Given the description of an element on the screen output the (x, y) to click on. 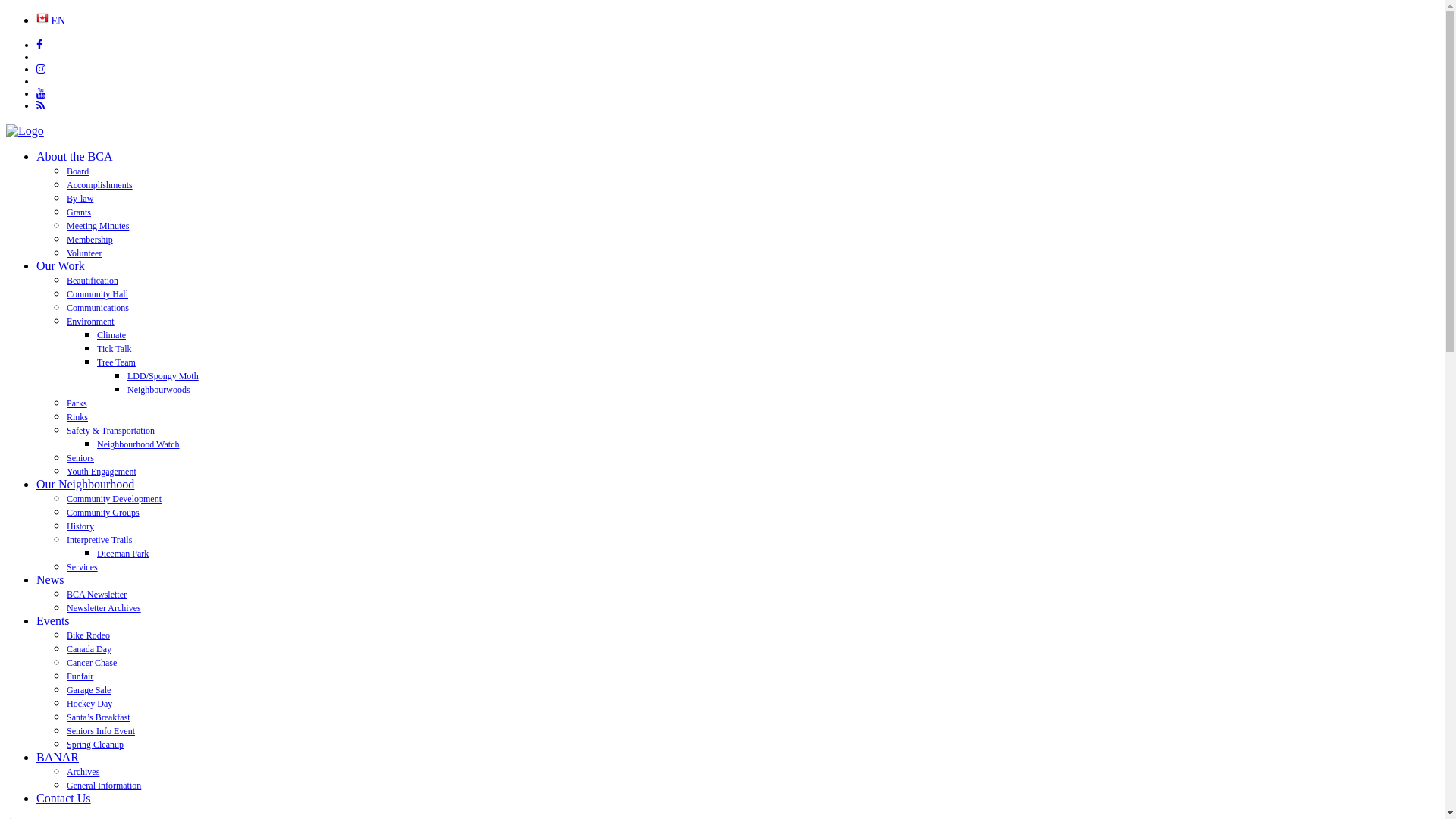
Neighbourwoods Element type: text (158, 389)
EN Element type: text (50, 20)
Communications Element type: text (97, 307)
Services Element type: text (81, 566)
Board Element type: text (77, 171)
Tree Team Element type: text (116, 362)
Funfair Element type: text (79, 676)
Bike Rodeo Element type: text (87, 635)
Rinks Element type: text (76, 416)
History Element type: text (80, 525)
Climate Element type: text (111, 334)
Cancer Chase Element type: text (91, 662)
Parks Element type: text (76, 403)
Hockey Day Element type: text (89, 703)
BANAR Element type: text (57, 756)
Accomplishments Element type: text (99, 184)
Environment Element type: text (90, 321)
Newsletter Archives Element type: text (103, 607)
Archives Element type: text (82, 771)
Interpretive Trails Element type: text (98, 539)
Meeting Minutes Element type: text (97, 225)
Beautification Element type: text (92, 280)
General Information Element type: text (103, 785)
Canada Day Element type: text (88, 648)
Seniors Info Event Element type: text (100, 730)
Garage Sale Element type: text (88, 689)
Our Neighbourhood Element type: text (85, 483)
About the BCA Element type: text (74, 156)
Volunteer Element type: text (83, 252)
BCA Newsletter Element type: text (96, 594)
LDD/Spongy Moth Element type: text (162, 375)
Diceman Park Element type: text (122, 553)
Our Work Element type: text (60, 265)
Grants Element type: text (78, 212)
Community Groups Element type: text (102, 512)
Seniors Element type: text (80, 457)
Tick Talk Element type: text (114, 348)
News Element type: text (49, 579)
Youth Engagement Element type: text (101, 471)
Neighbourhood Watch Element type: text (137, 444)
Spring Cleanup Element type: text (94, 744)
Contact Us Element type: text (63, 797)
Community Hall Element type: text (97, 293)
Community Development Element type: text (113, 498)
By-law Element type: text (79, 198)
Events Element type: text (52, 620)
Membership Element type: text (89, 239)
Safety & Transportation Element type: text (110, 430)
